Given the description of an element on the screen output the (x, y) to click on. 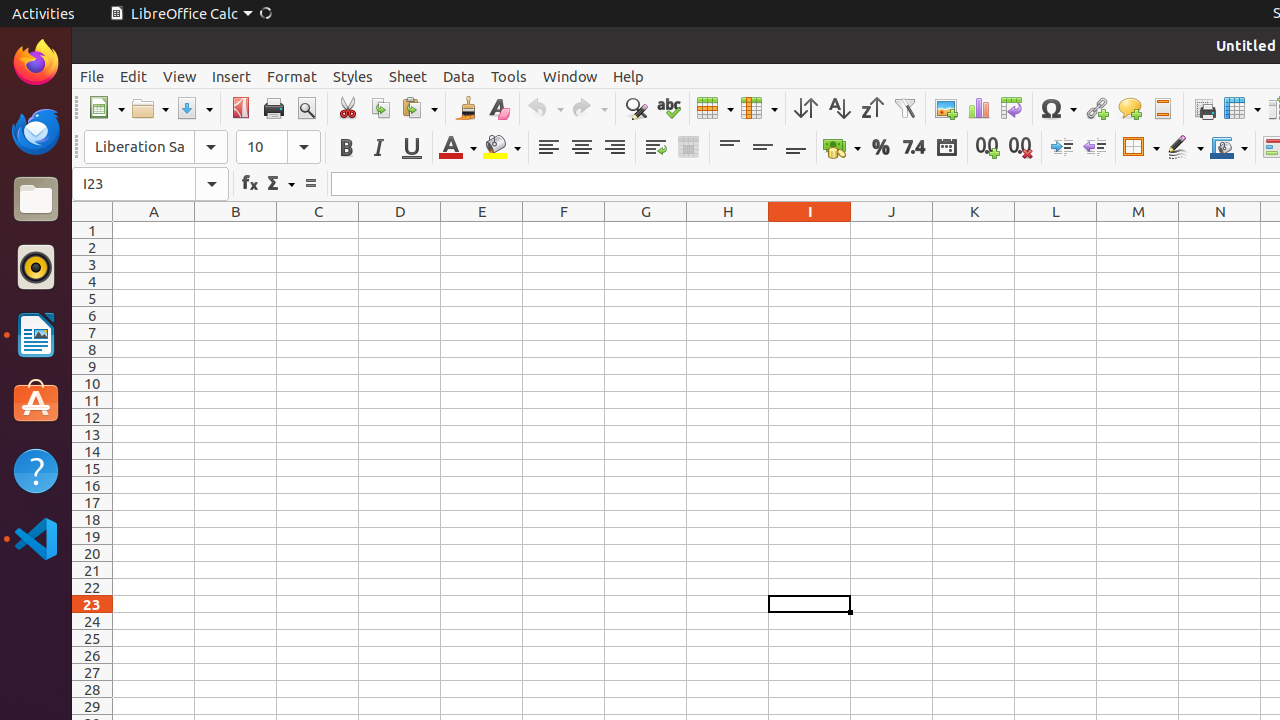
Background Color Element type: push-button (502, 147)
Sort Descending Element type: push-button (871, 108)
Center Vertically Element type: push-button (762, 147)
Styles Element type: menu (353, 76)
Paste Element type: push-button (419, 108)
